Given the description of an element on the screen output the (x, y) to click on. 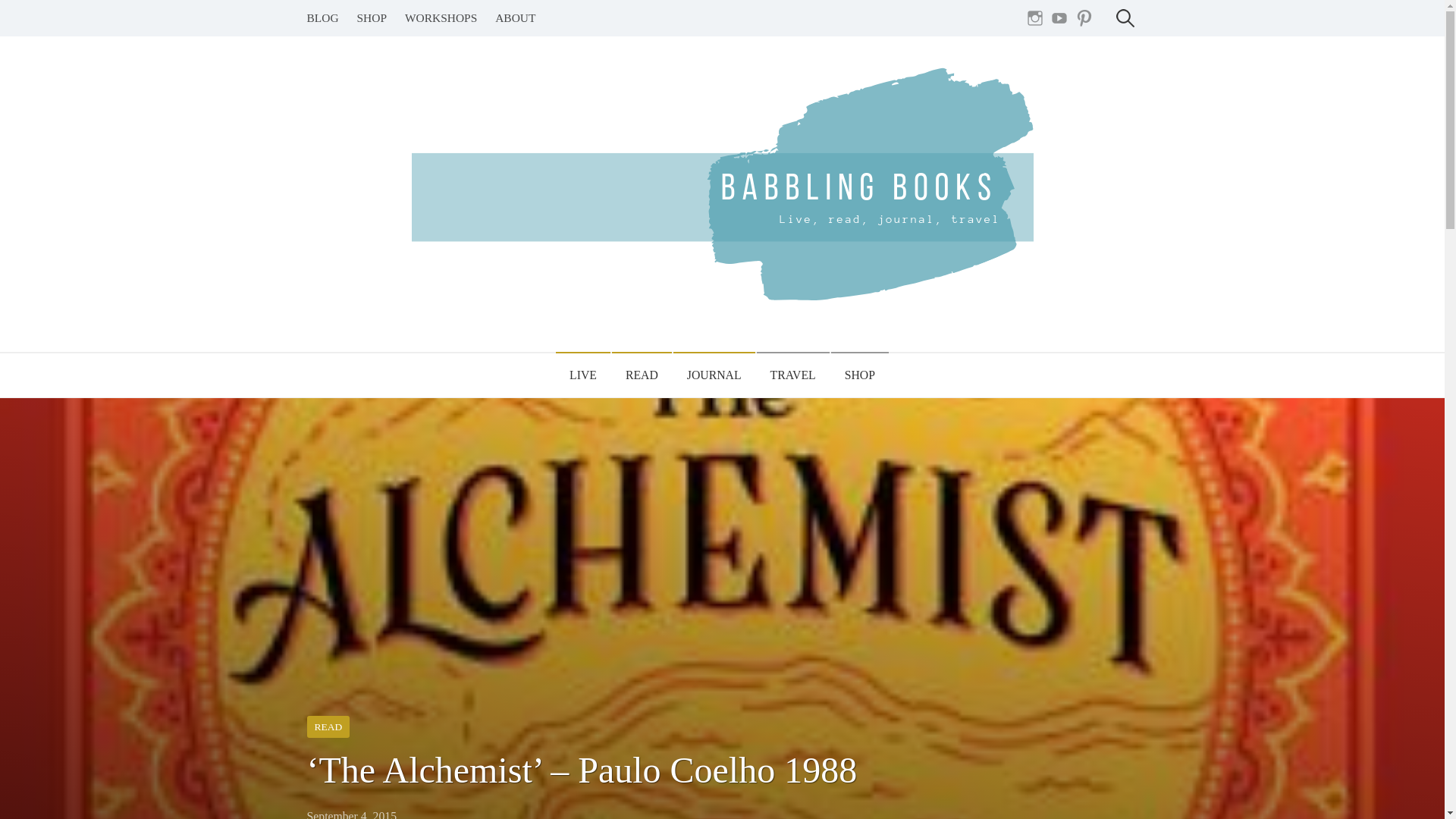
READ (327, 726)
Pinterest (1083, 17)
LIVE (583, 374)
Youtube (1059, 17)
READ (641, 374)
ABOUT (515, 18)
Search (20, 18)
Instagram (1034, 17)
WORKSHOPS (441, 18)
September 4, 2015 (350, 814)
